Given the description of an element on the screen output the (x, y) to click on. 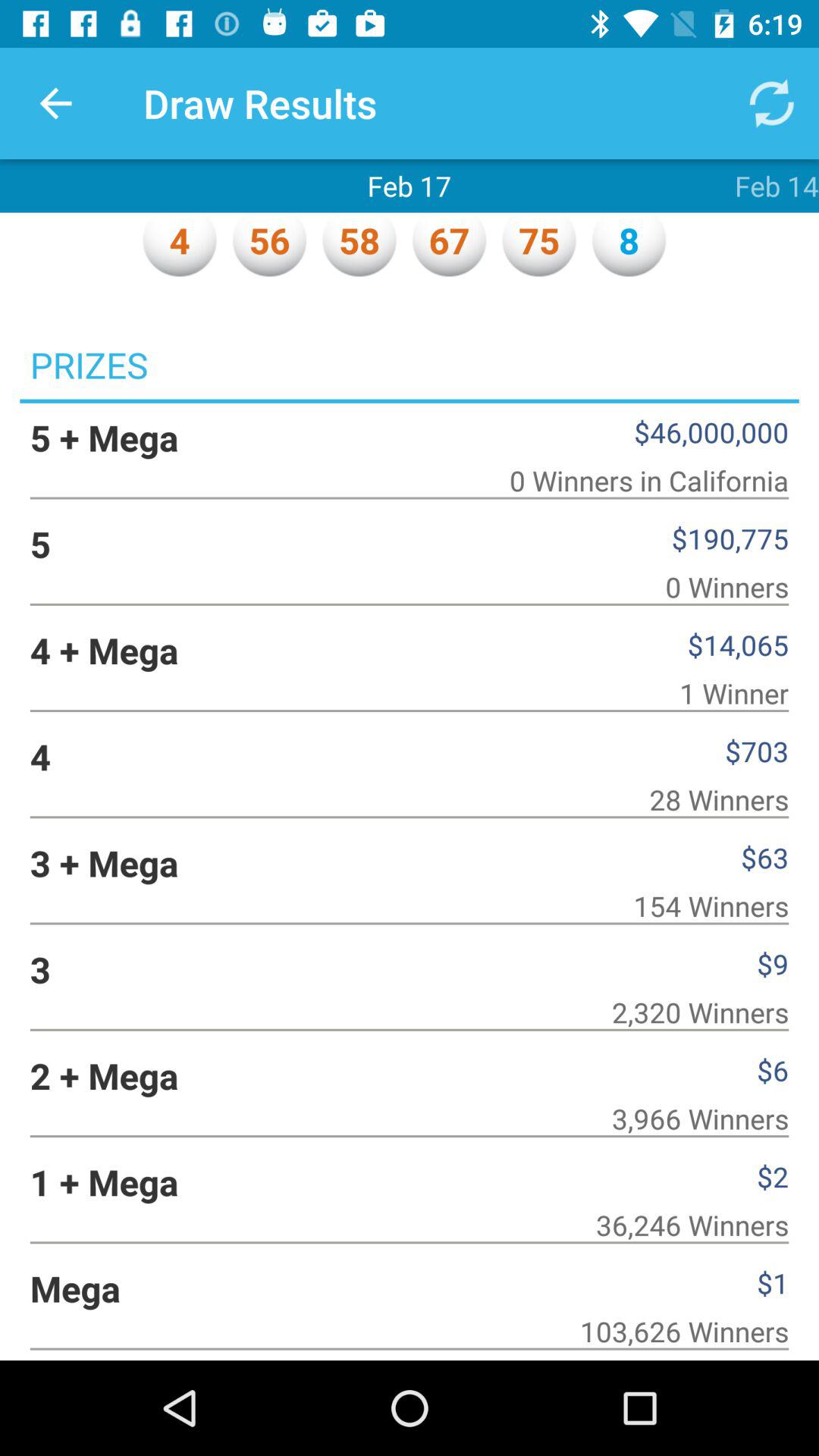
select item above prizes icon (55, 103)
